Given the description of an element on the screen output the (x, y) to click on. 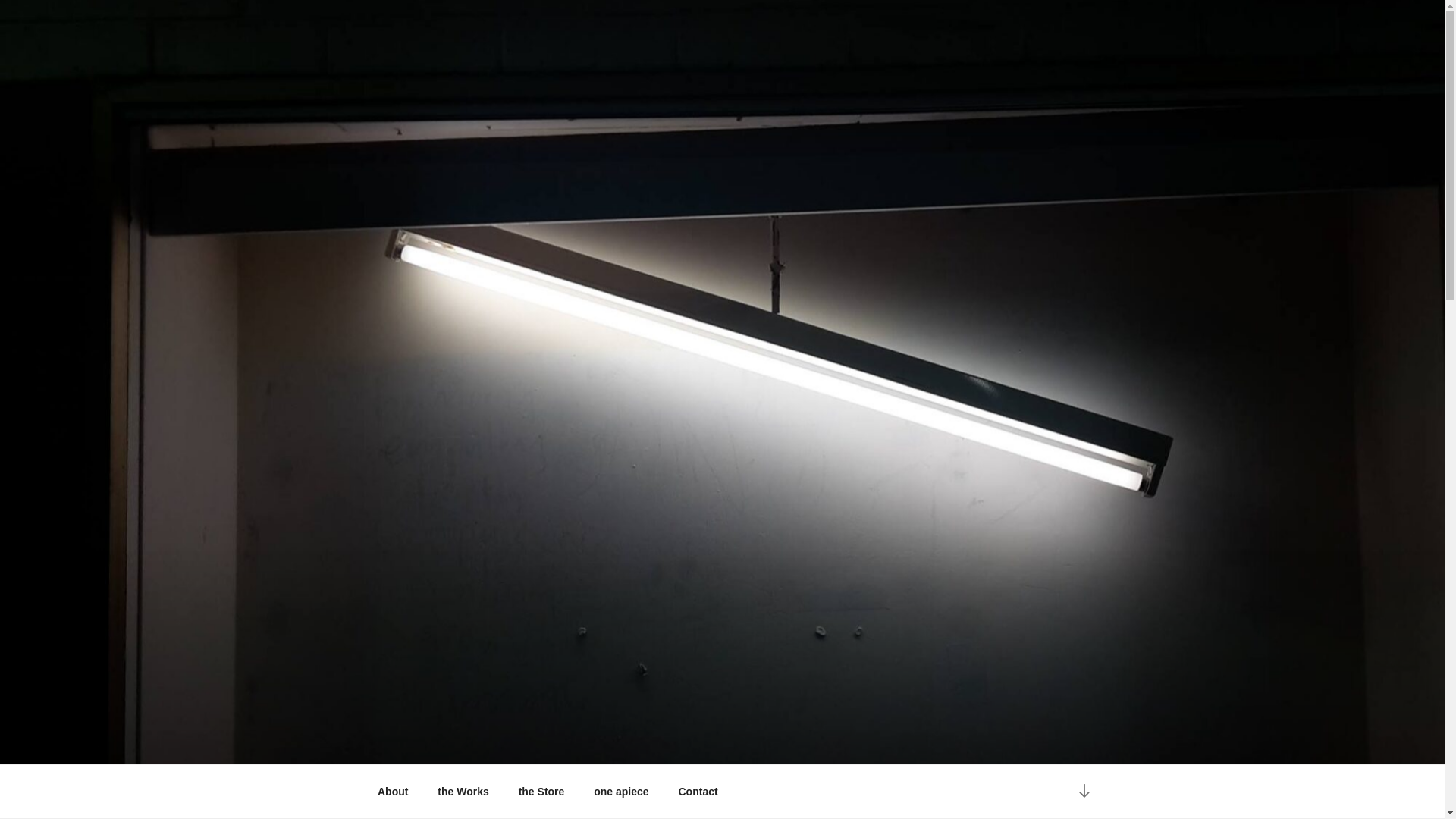
Contact Element type: text (698, 791)
Scroll down to content Element type: text (1083, 790)
one apiece Element type: text (621, 791)
the Store Element type: text (541, 791)
About Element type: text (392, 791)
the Works Element type: text (463, 791)
